Given the description of an element on the screen output the (x, y) to click on. 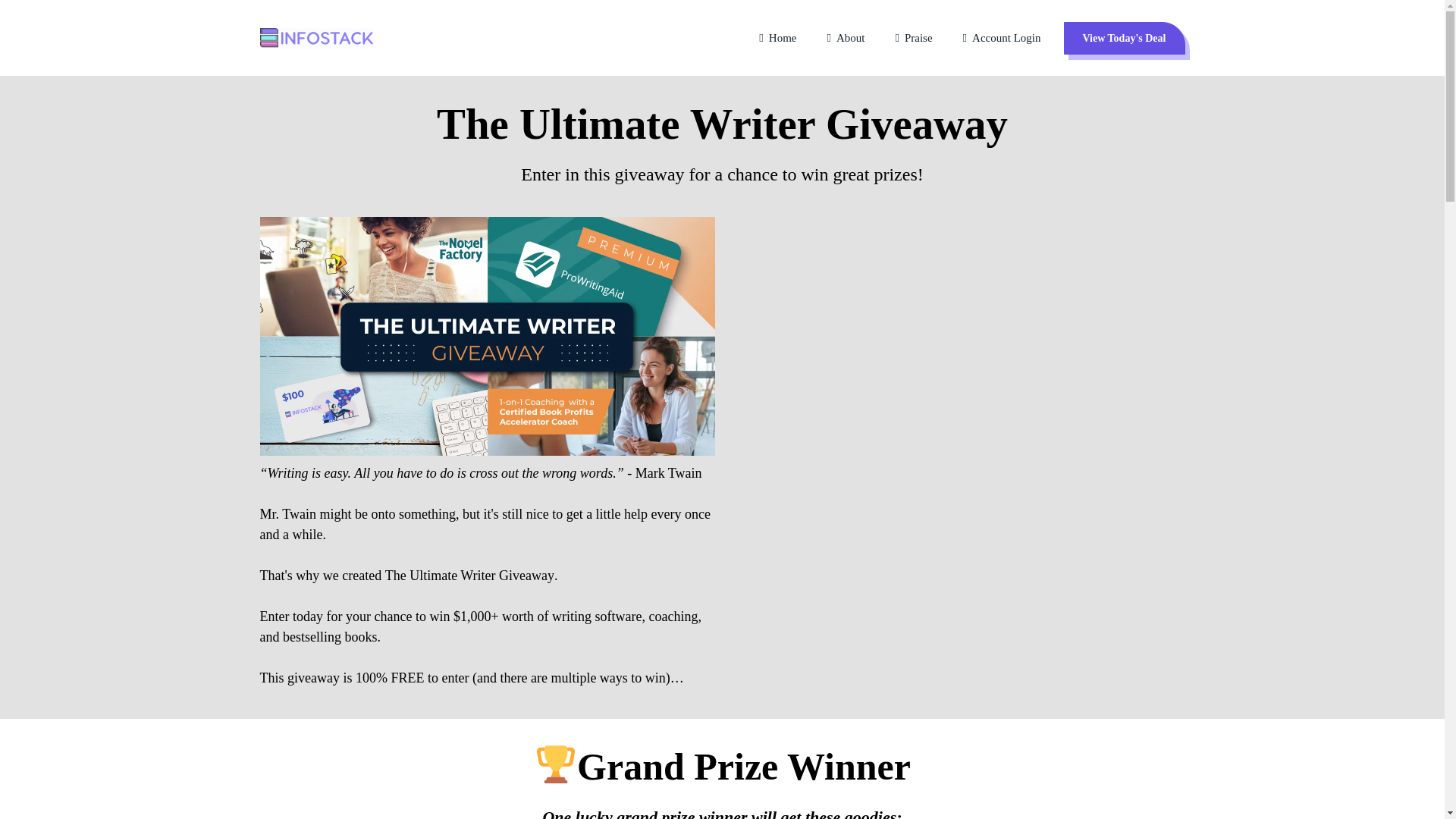
Praise (913, 41)
Home (777, 41)
View Today's Deal (1123, 37)
Account Login (1001, 41)
About (845, 41)
